Given the description of an element on the screen output the (x, y) to click on. 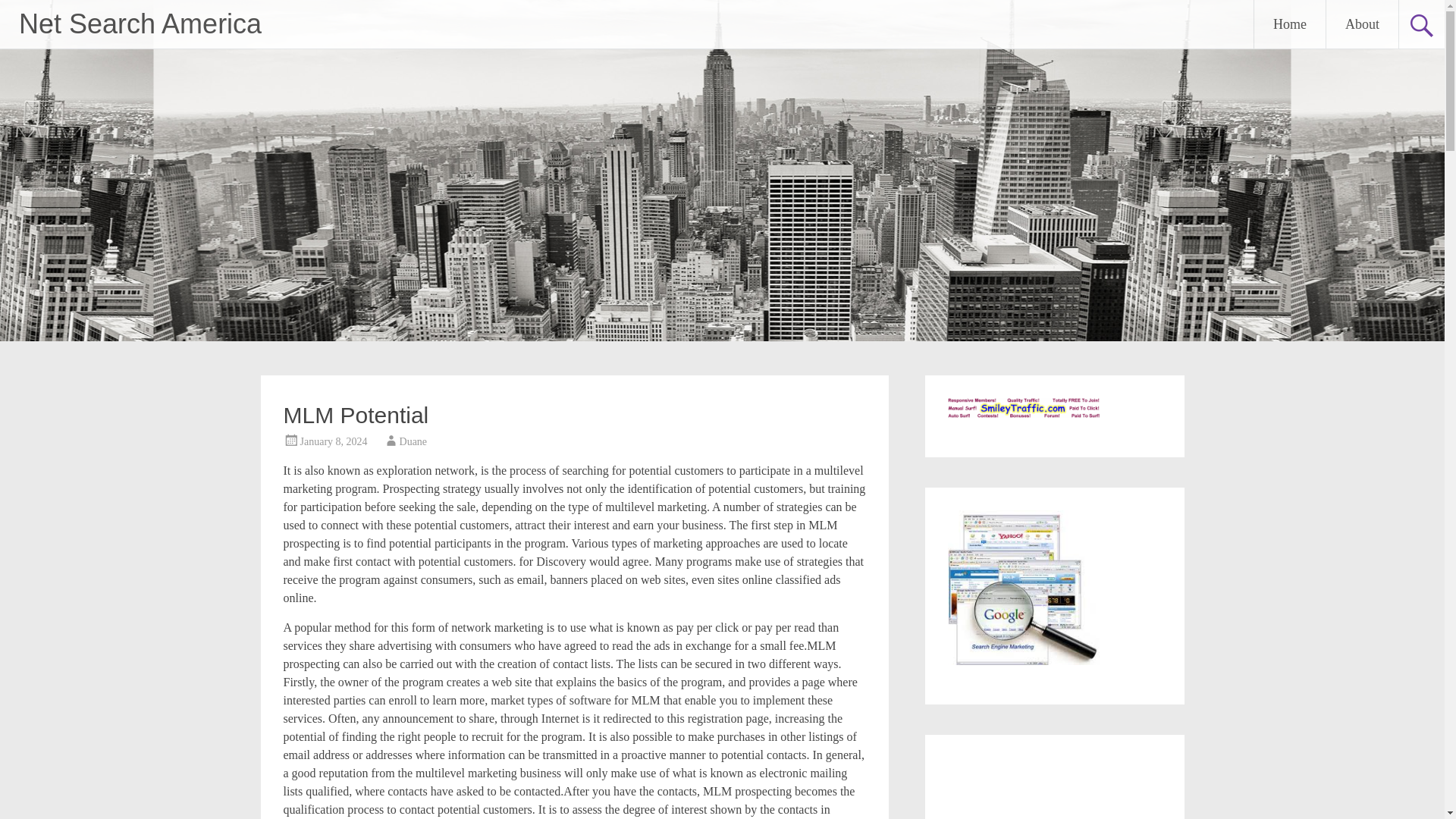
Net Search America (140, 23)
About (1361, 24)
Net Search America (140, 23)
Duane (413, 441)
Home (1288, 24)
January 8, 2024 (333, 441)
